Given the description of an element on the screen output the (x, y) to click on. 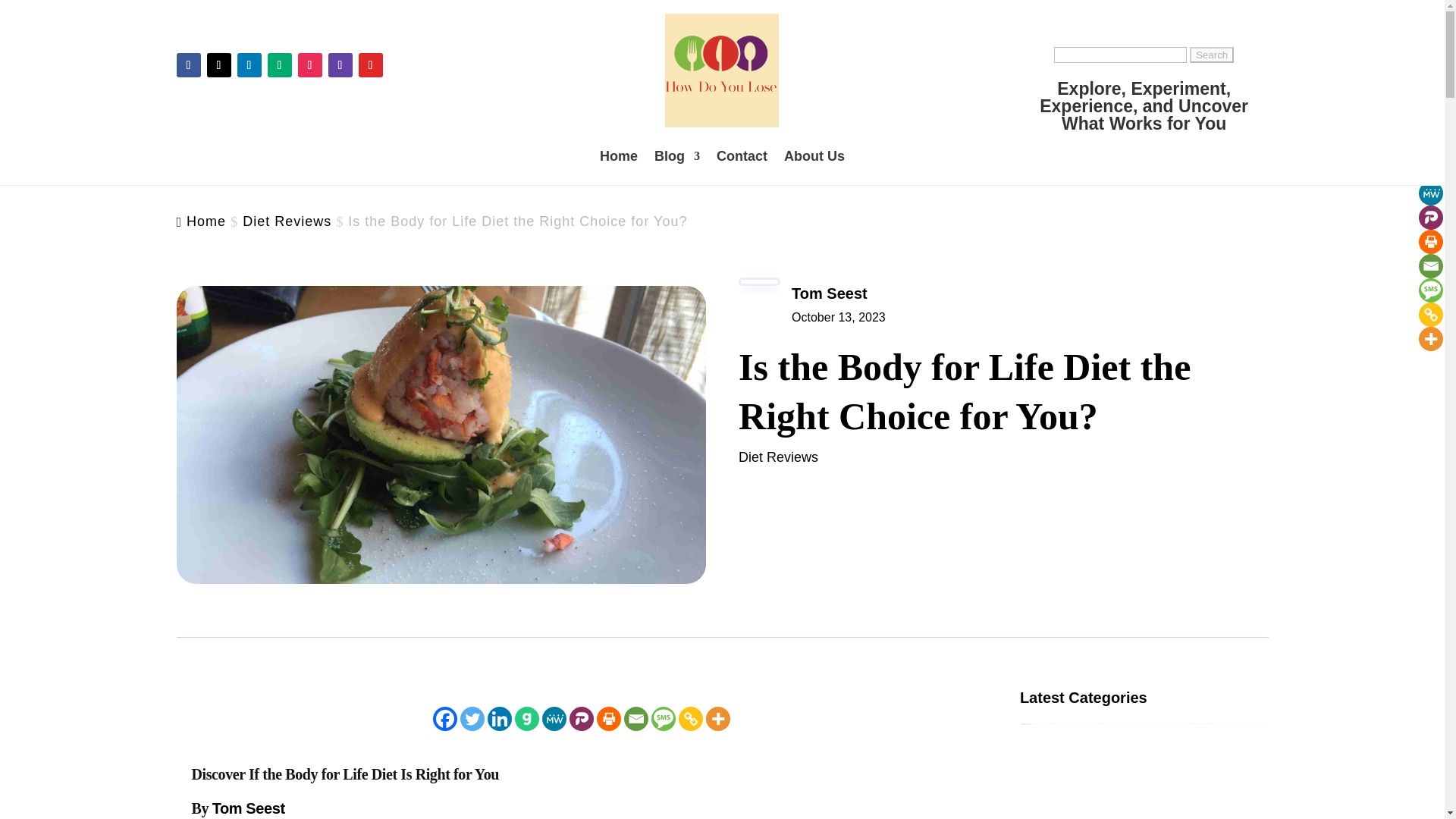
Follow on FlipBoard (369, 64)
Follow on Instagram (309, 64)
MeWe (553, 718)
Follow on Facebook (188, 64)
Linkedin (499, 718)
Twitter (472, 718)
About Us (814, 156)
Search (1211, 54)
Search (1211, 54)
Parler (581, 718)
